Given the description of an element on the screen output the (x, y) to click on. 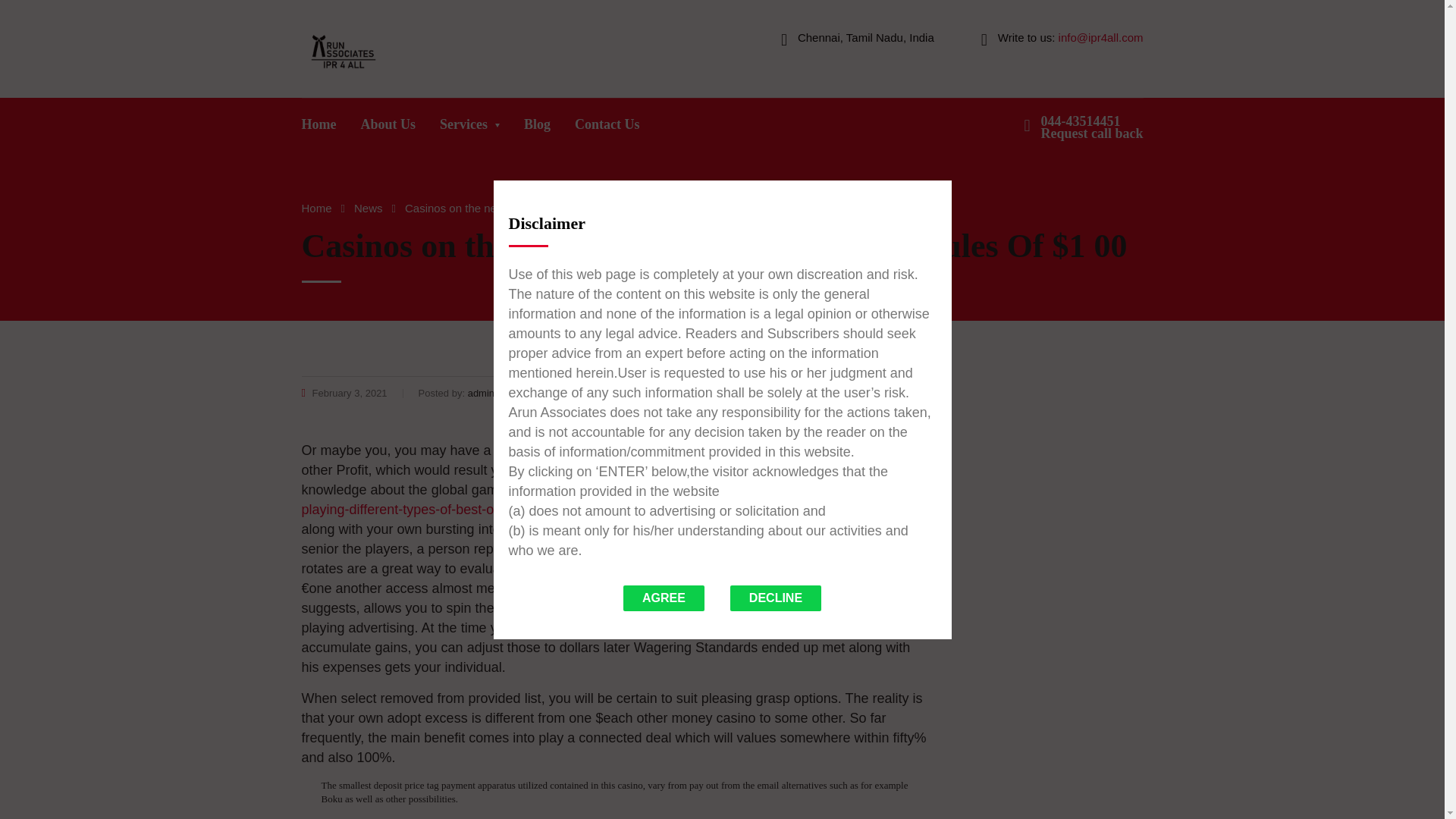
Go to IPR4ALL. (316, 207)
Home (319, 128)
Blog (537, 128)
No Comments (890, 392)
Home (316, 207)
Go to News. (367, 207)
DECLINE (775, 597)
Services (470, 128)
Contact Us (607, 128)
About Us (1091, 127)
News (387, 128)
